Given the description of an element on the screen output the (x, y) to click on. 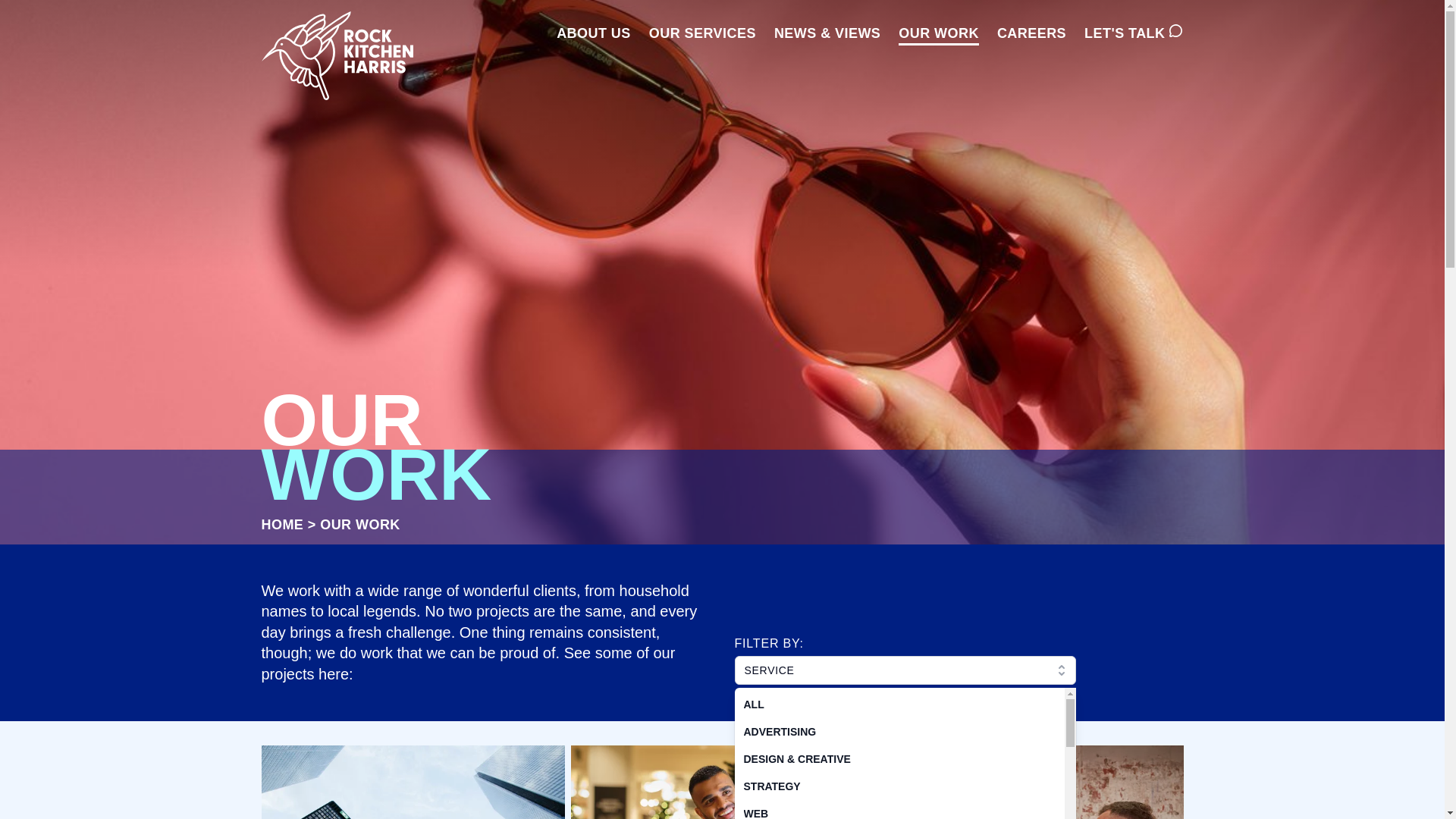
SERVICE (904, 670)
ABOUT US (593, 35)
LET'S TALK (1124, 35)
HOME (281, 524)
OUR SERVICES (702, 35)
OUR WORK (938, 35)
CAREERS (1031, 35)
ADVERTISING (898, 731)
ALL (898, 704)
